Given the description of an element on the screen output the (x, y) to click on. 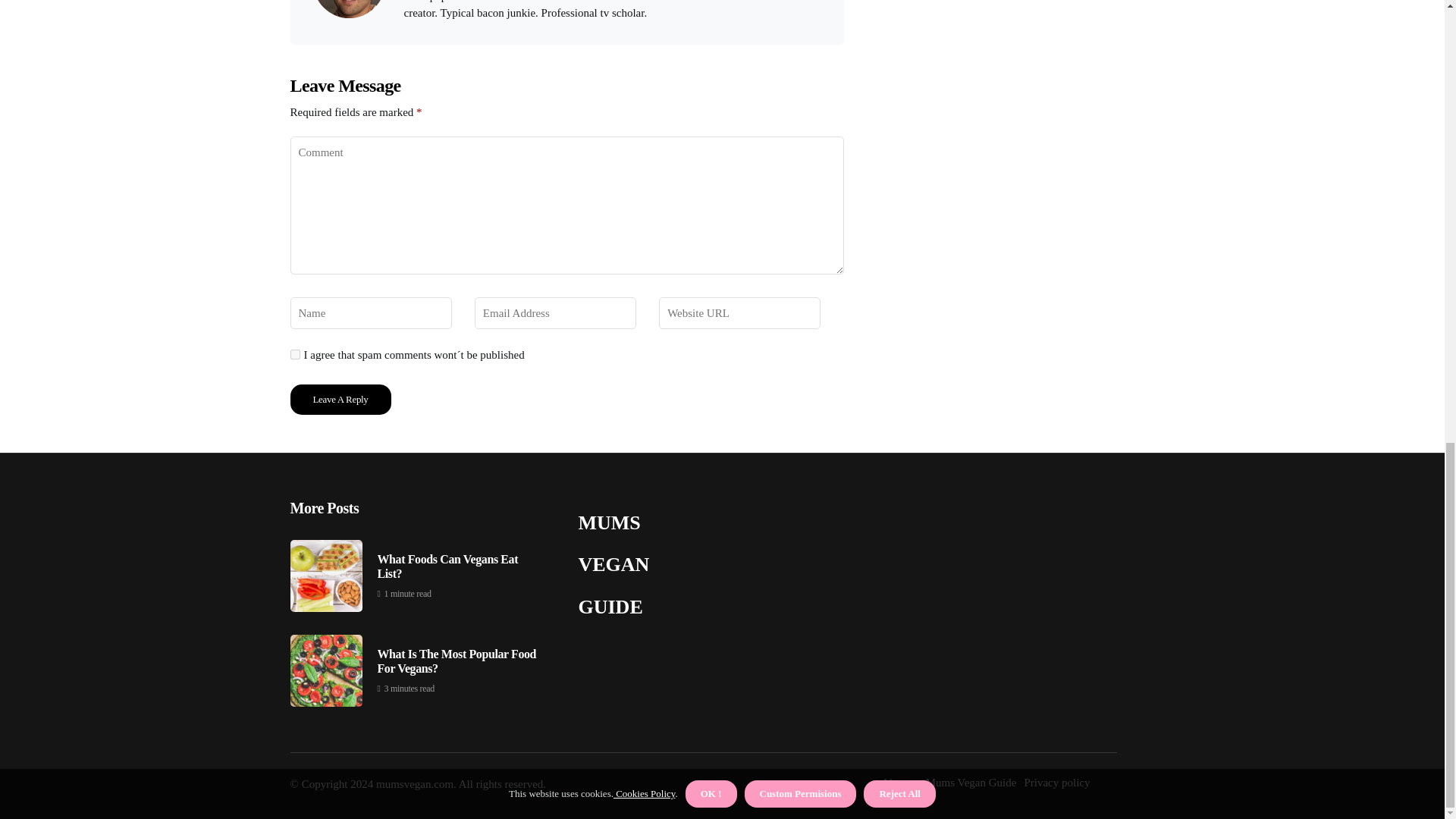
yes (294, 354)
Leave a Reply (339, 399)
Leave a Reply (339, 399)
